Given the description of an element on the screen output the (x, y) to click on. 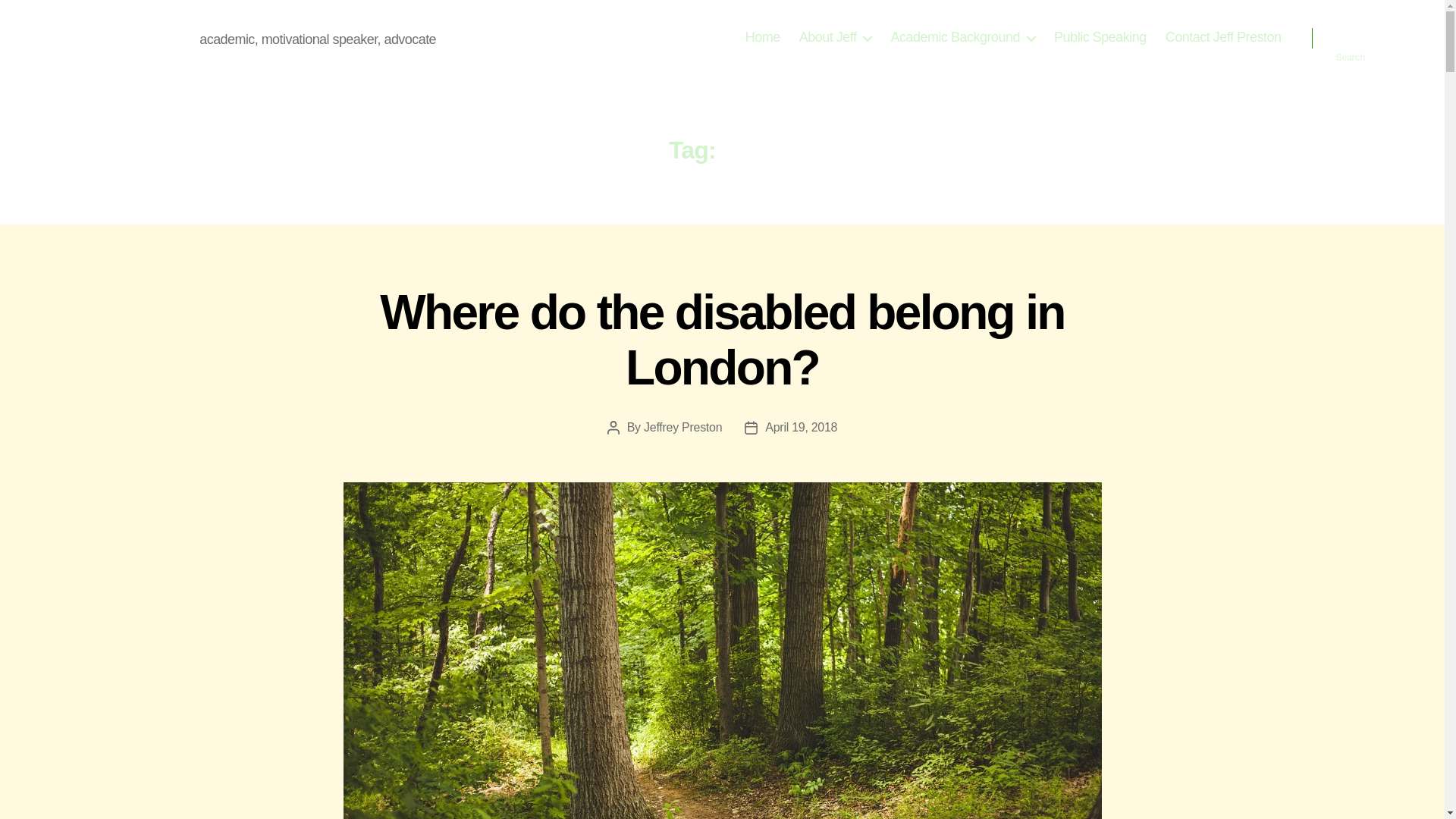
Jeffrey Preston (682, 427)
About Jeff (835, 37)
Jeff Preston (132, 37)
Search (1350, 37)
Where do the disabled belong in London? (722, 339)
Public Speaking (1100, 37)
April 19, 2018 (801, 427)
Academic Background (962, 37)
Home (762, 37)
Contact Jeff Preston (1223, 37)
